Given the description of an element on the screen output the (x, y) to click on. 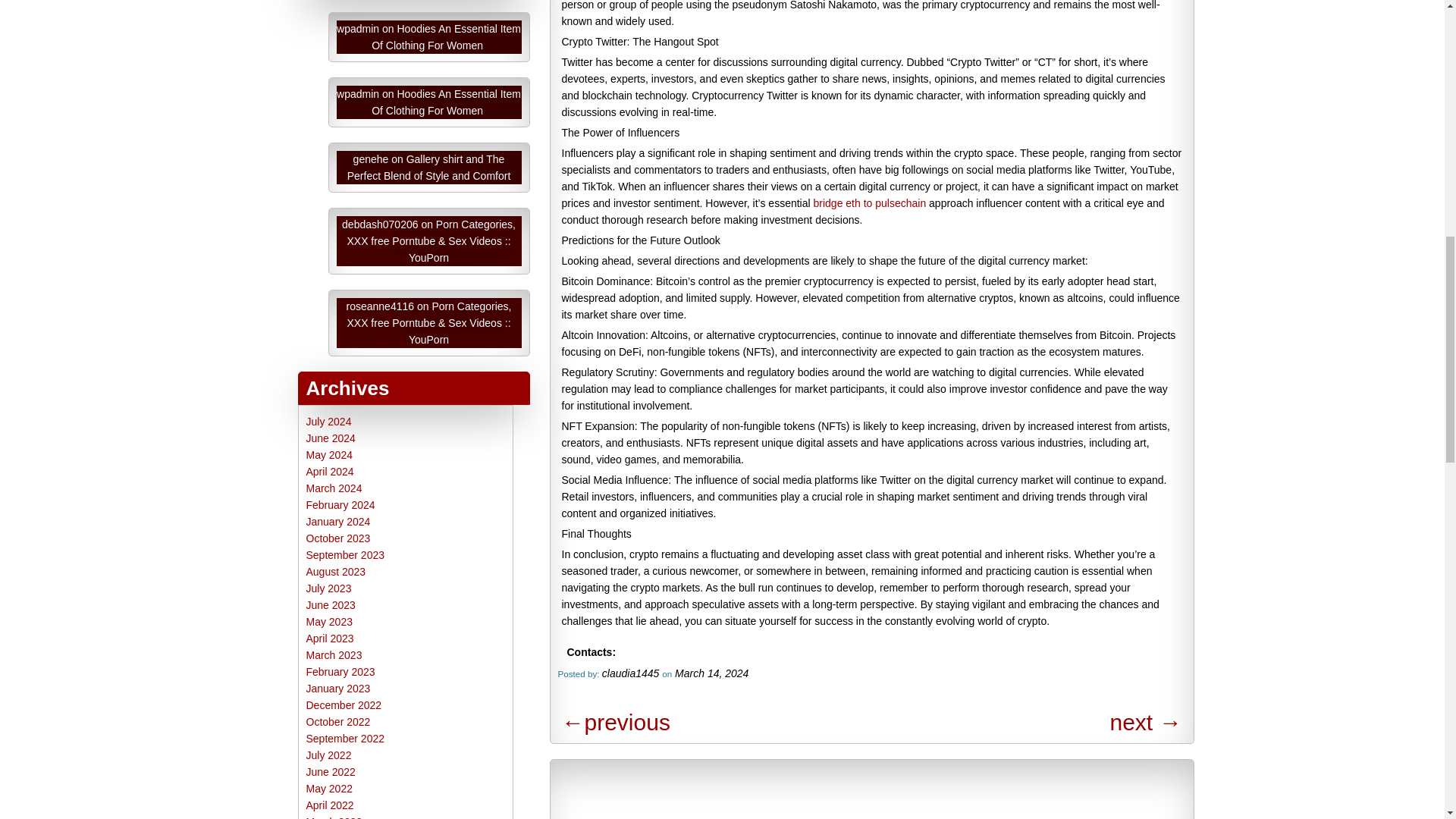
wpadmin (357, 93)
March 2024 (333, 488)
June 2024 (330, 438)
Gallery shirt and The Perfect Blend of Style and Comfort (429, 167)
roseanne4116 (380, 306)
February 2024 (340, 504)
April 2024 (329, 471)
wpadmin (357, 28)
July 2024 (328, 421)
May 2024 (328, 454)
genehe (370, 159)
Hoodies An Essential Item Of Clothing For Women  (446, 102)
Hoodies An Essential Item Of Clothing For Women  (446, 36)
debdash070206 (379, 224)
bridge eth to pulsechain (869, 203)
